Given the description of an element on the screen output the (x, y) to click on. 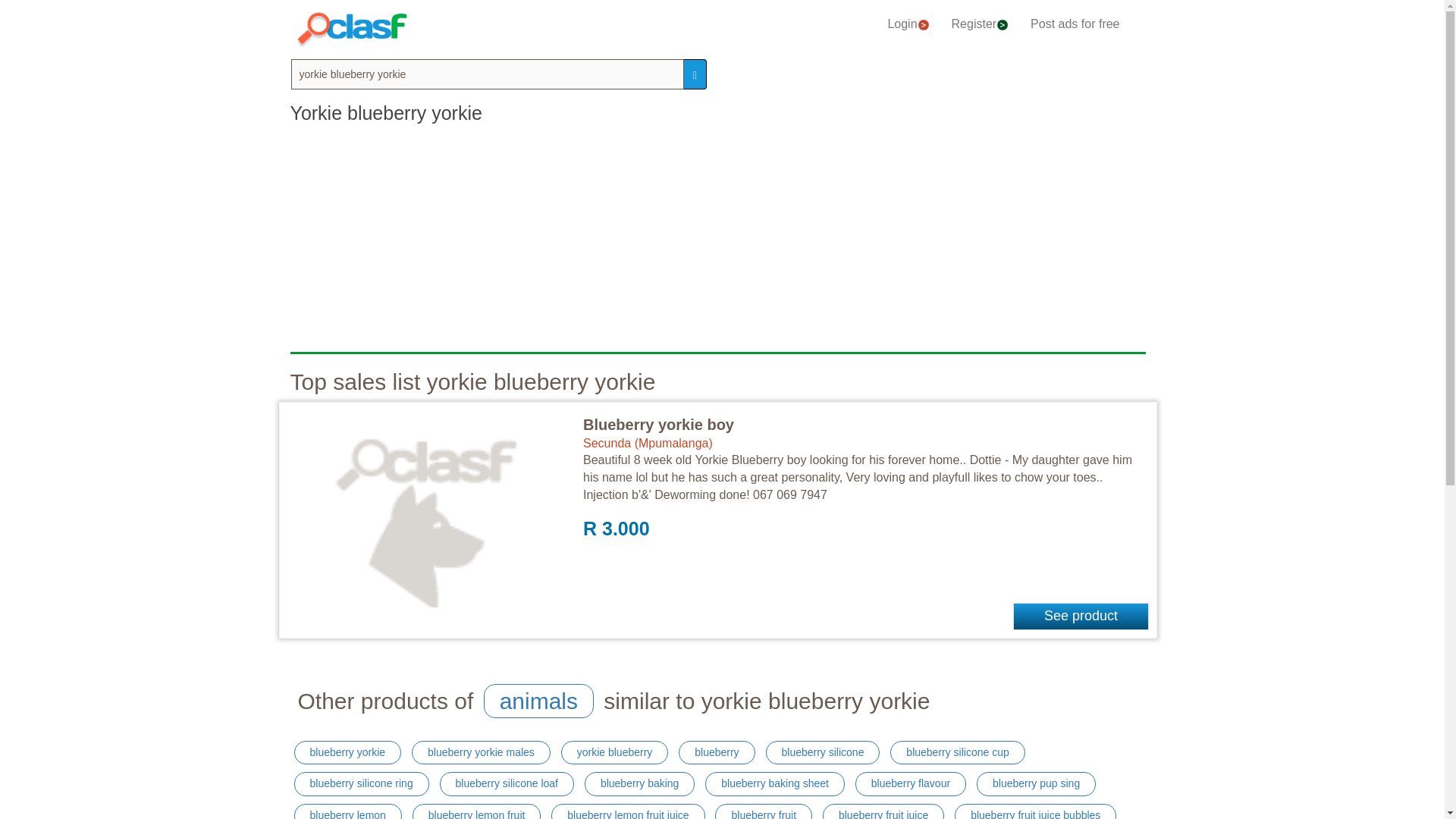
blueberry lemon fruit (476, 811)
blueberry silicone (822, 752)
blueberry yorkie (347, 752)
Blueberry yorkie boy (658, 423)
blueberry lemon (347, 811)
blueberry silicone cup (957, 752)
blueberry lemon fruit juice (627, 811)
blueberry silicone loaf (506, 784)
blueberry (716, 752)
yorkie blueberry yorkie (487, 73)
